Given the description of an element on the screen output the (x, y) to click on. 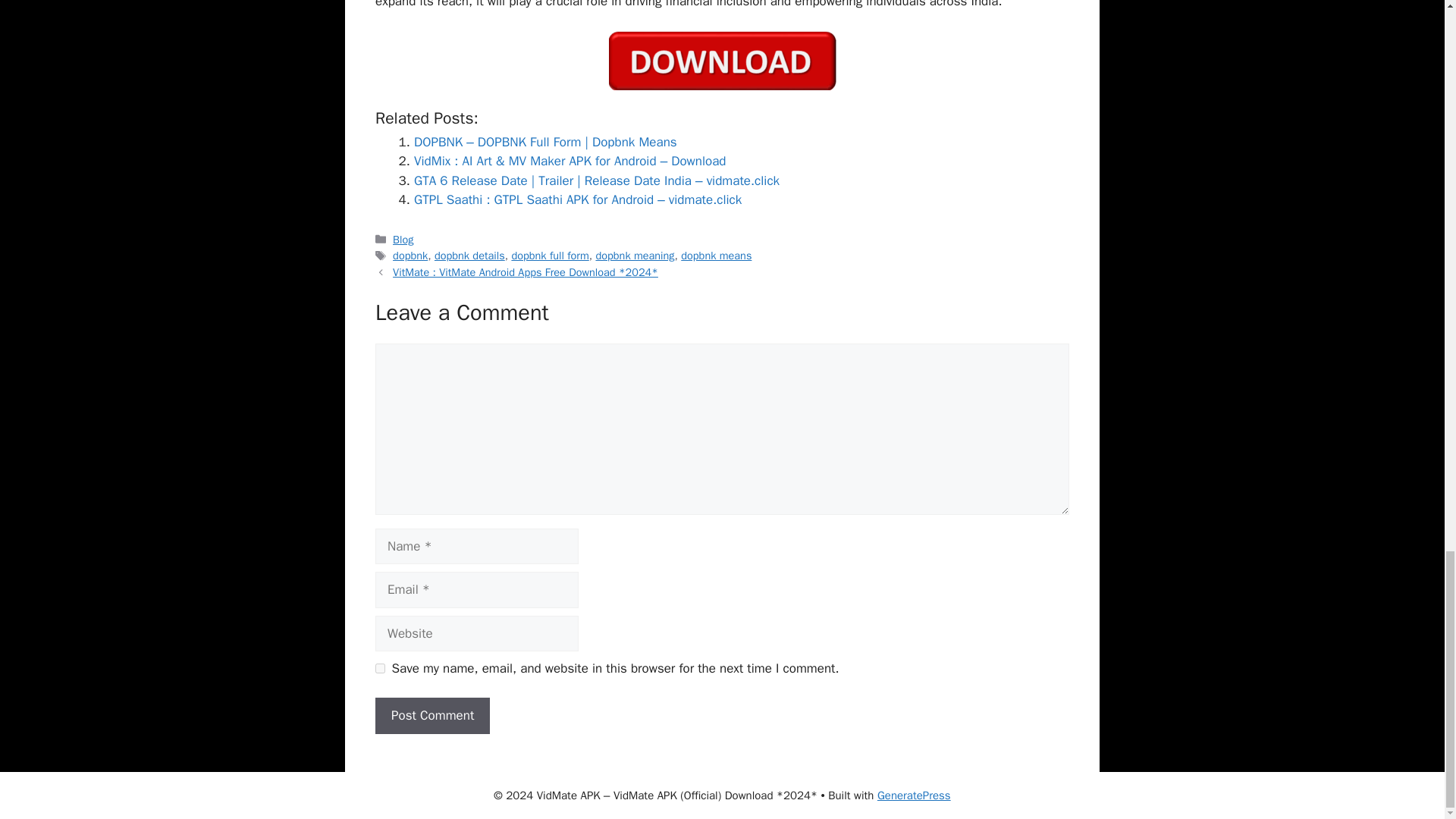
dopbnk meaning (634, 255)
dopbnk full form (549, 255)
Blog (403, 239)
dopbnk means (716, 255)
yes (380, 668)
Post Comment (432, 715)
dopbnk (410, 255)
Post Comment (432, 715)
dopbnk details (469, 255)
GeneratePress (913, 795)
